Given the description of an element on the screen output the (x, y) to click on. 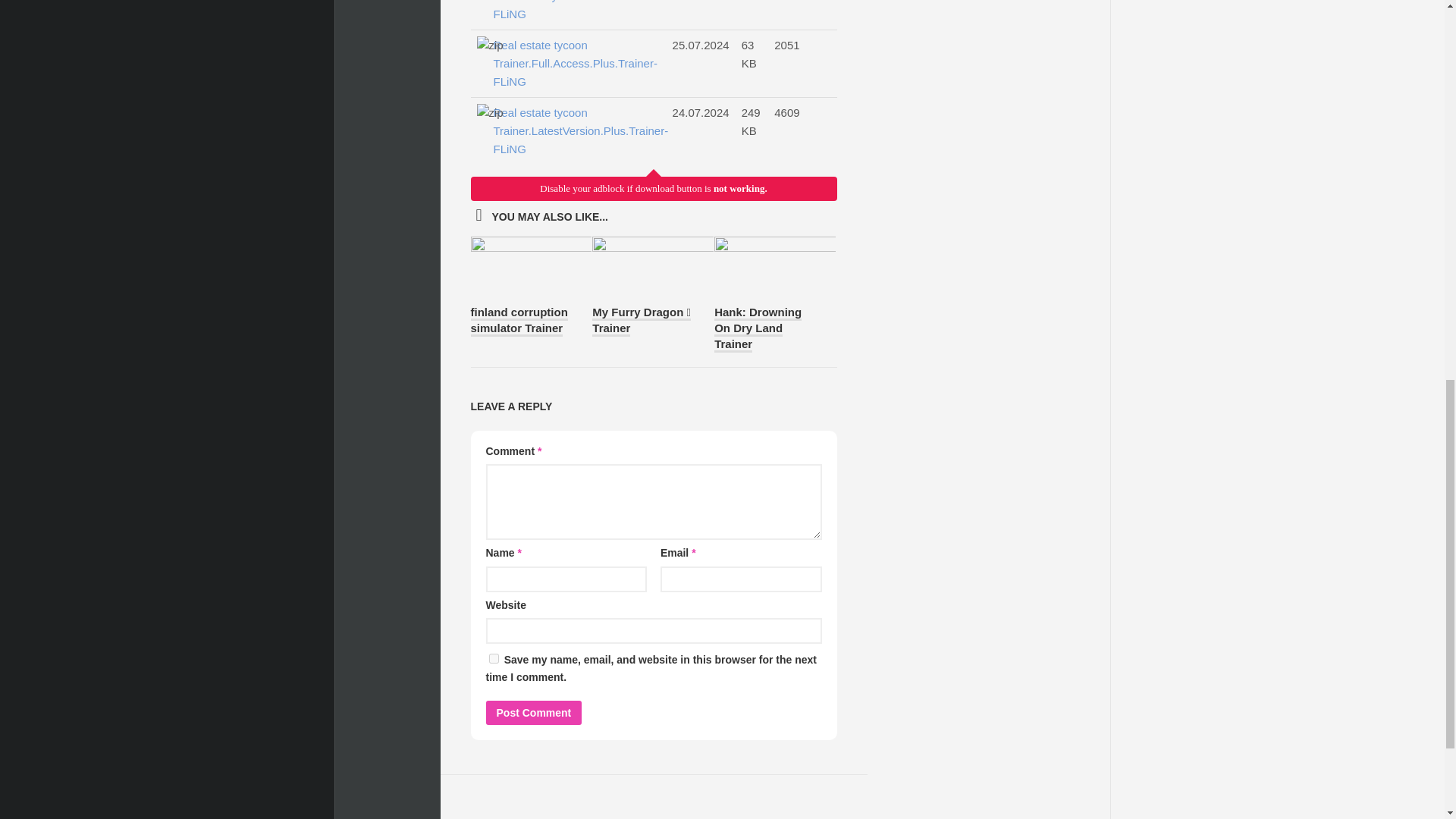
Real estate tycoon Trainer.Full.Access.Plus.12.Trainer-FLiNG (575, 131)
yes (492, 658)
Real estate tycoon Trainer.LatestVersion.Plus.Trainer-FLiNG (575, 131)
Real estate tycoon Trainer.Full.Access.Plus.Trainer-FLiNG (575, 63)
finland corruption simulator Trainer (518, 320)
Post Comment (532, 712)
Post Comment (532, 712)
Real estate tycoon Trainer.Early.Access.Plus.Trainer-FLiNG (575, 11)
Hank: Drowning On Dry Land Trainer (758, 328)
